Given the description of an element on the screen output the (x, y) to click on. 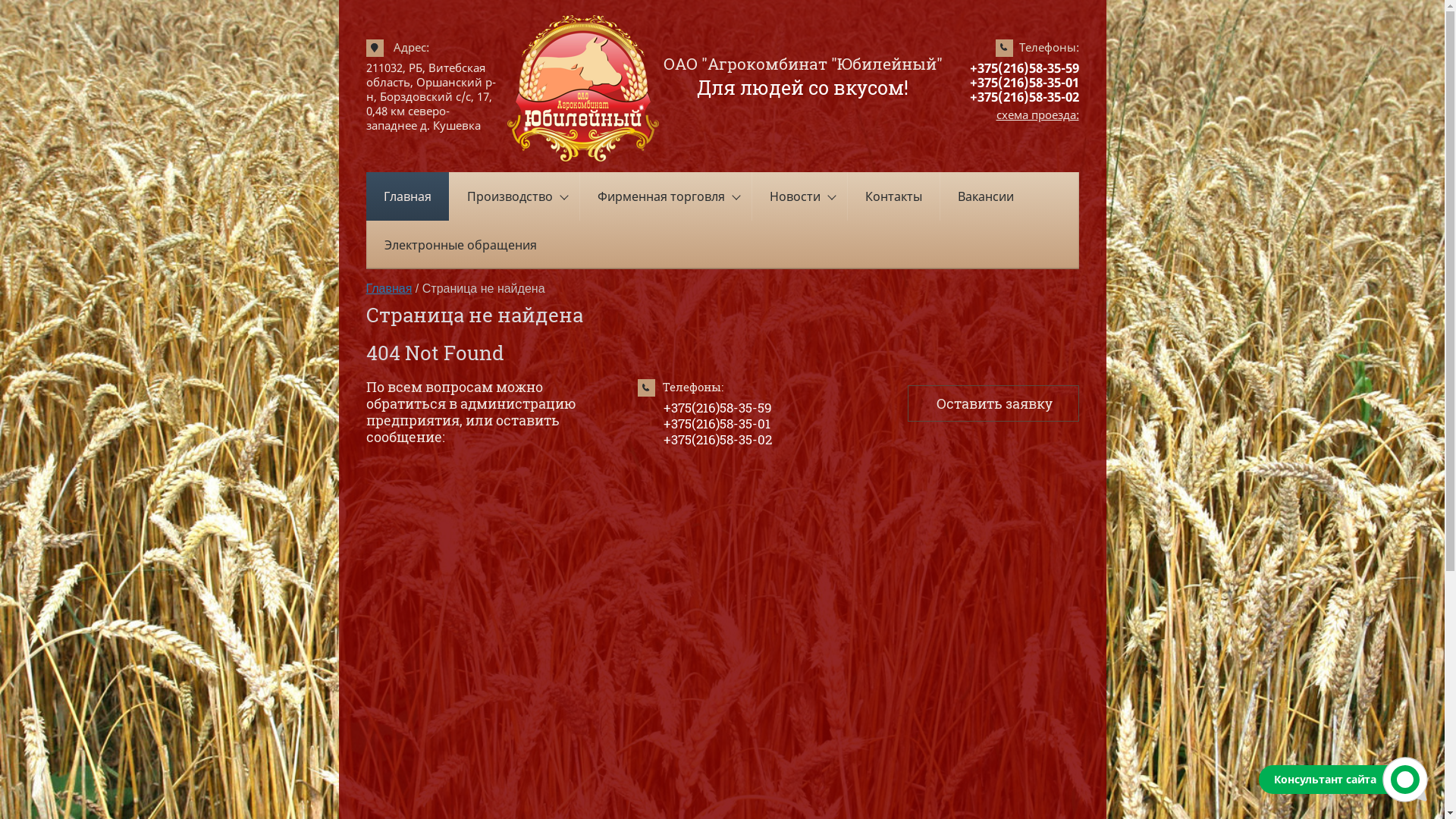
+375(216)58-35-01 Element type: text (1023, 82)
+375(216)58-35-59 Element type: text (716, 407)
+375(216)58-35-02 Element type: text (716, 439)
+375(216)58-35-02 Element type: text (1023, 96)
+375(216)58-35-59 Element type: text (1023, 67)
+375(216)58-35-01 Element type: text (715, 423)
